Given the description of an element on the screen output the (x, y) to click on. 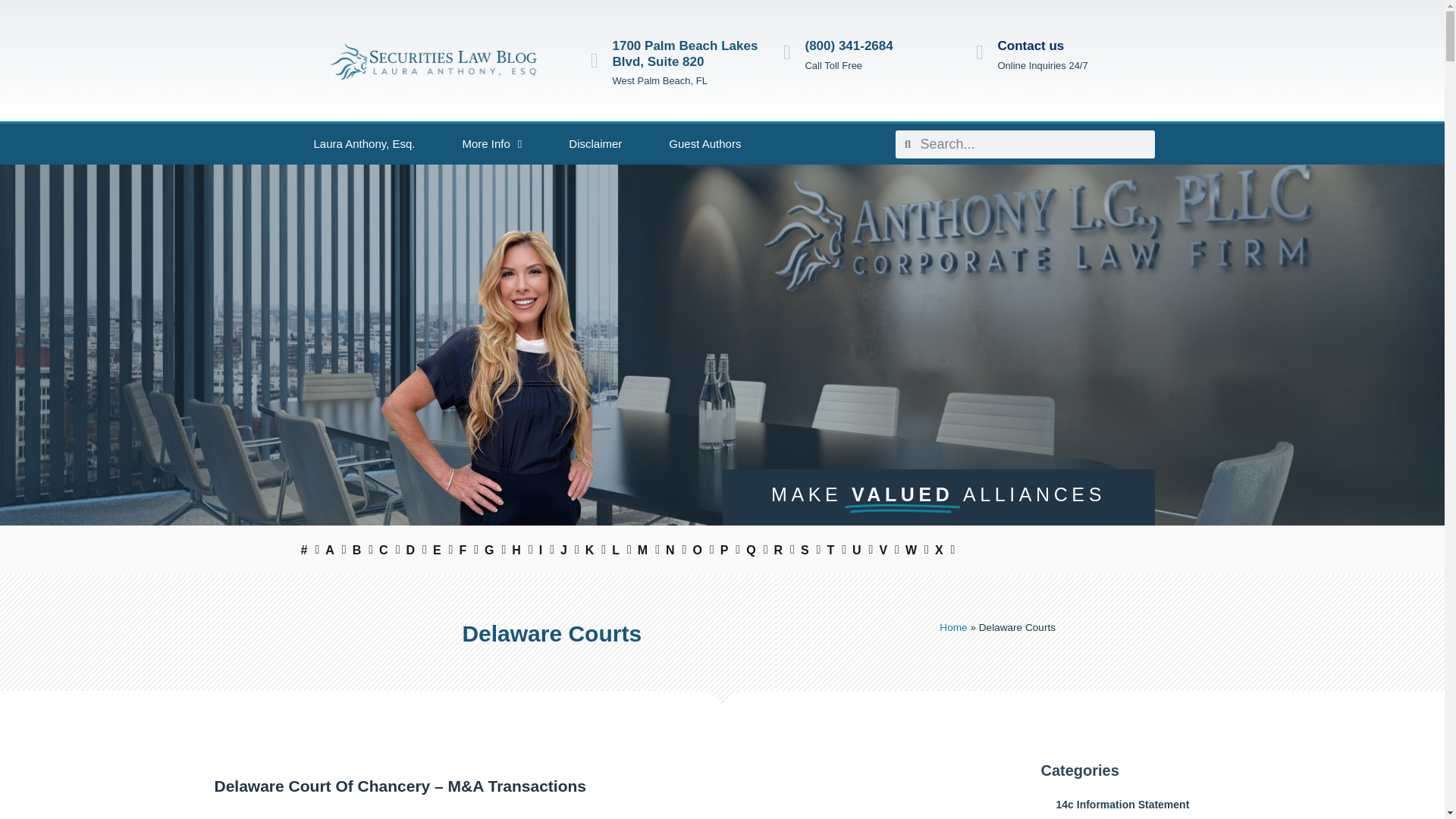
Guest Authors (704, 143)
Laura Anthony, Esq. (363, 143)
Contact us (1030, 45)
More Info (491, 143)
1700 Palm Beach Lakes Blvd, Suite 820 (685, 52)
Disclaimer (594, 143)
